Given the description of an element on the screen output the (x, y) to click on. 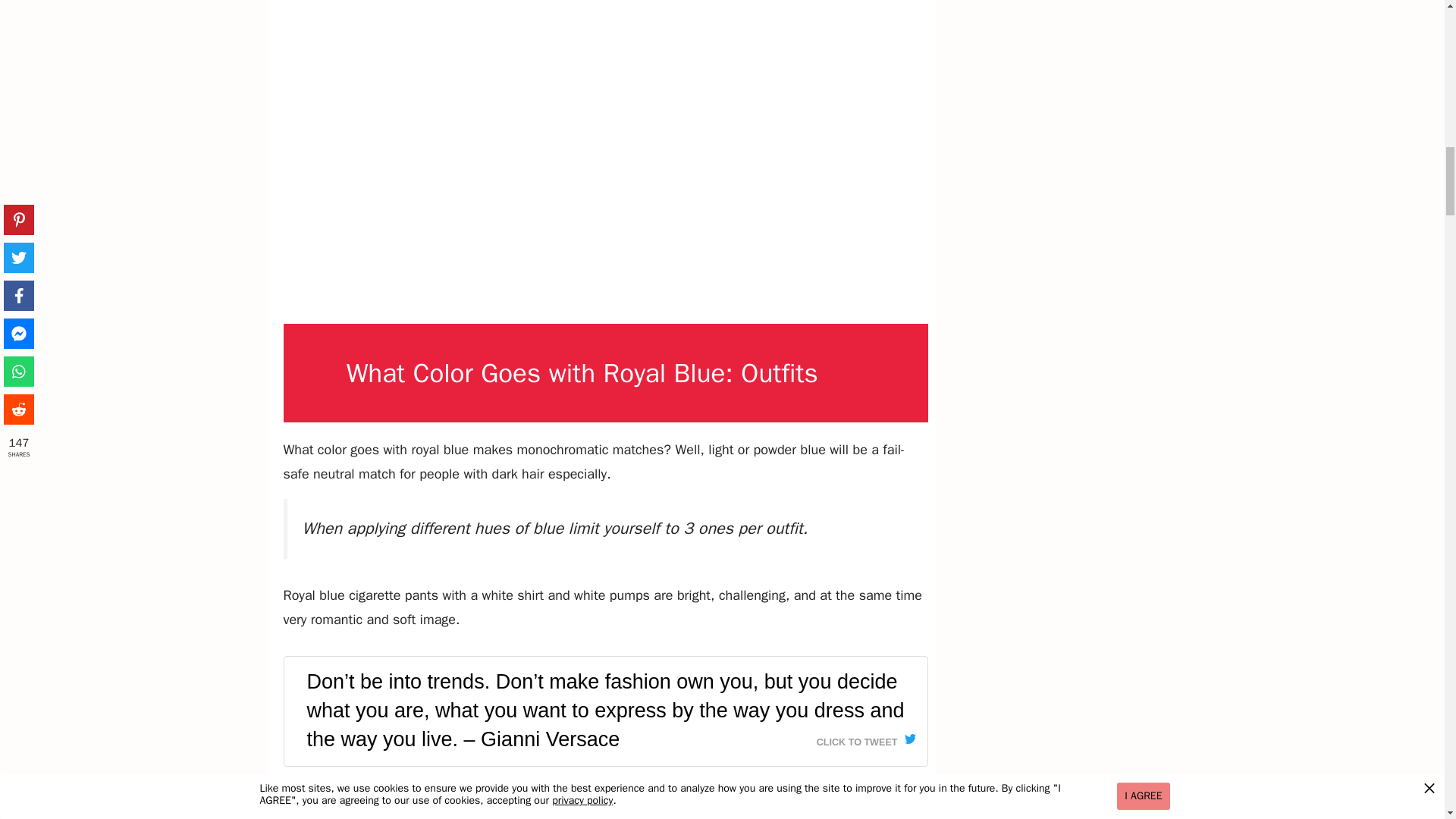
CLICK TO TWEET (865, 738)
outfit with royal blue cigarette pants photo (604, 799)
